Given the description of an element on the screen output the (x, y) to click on. 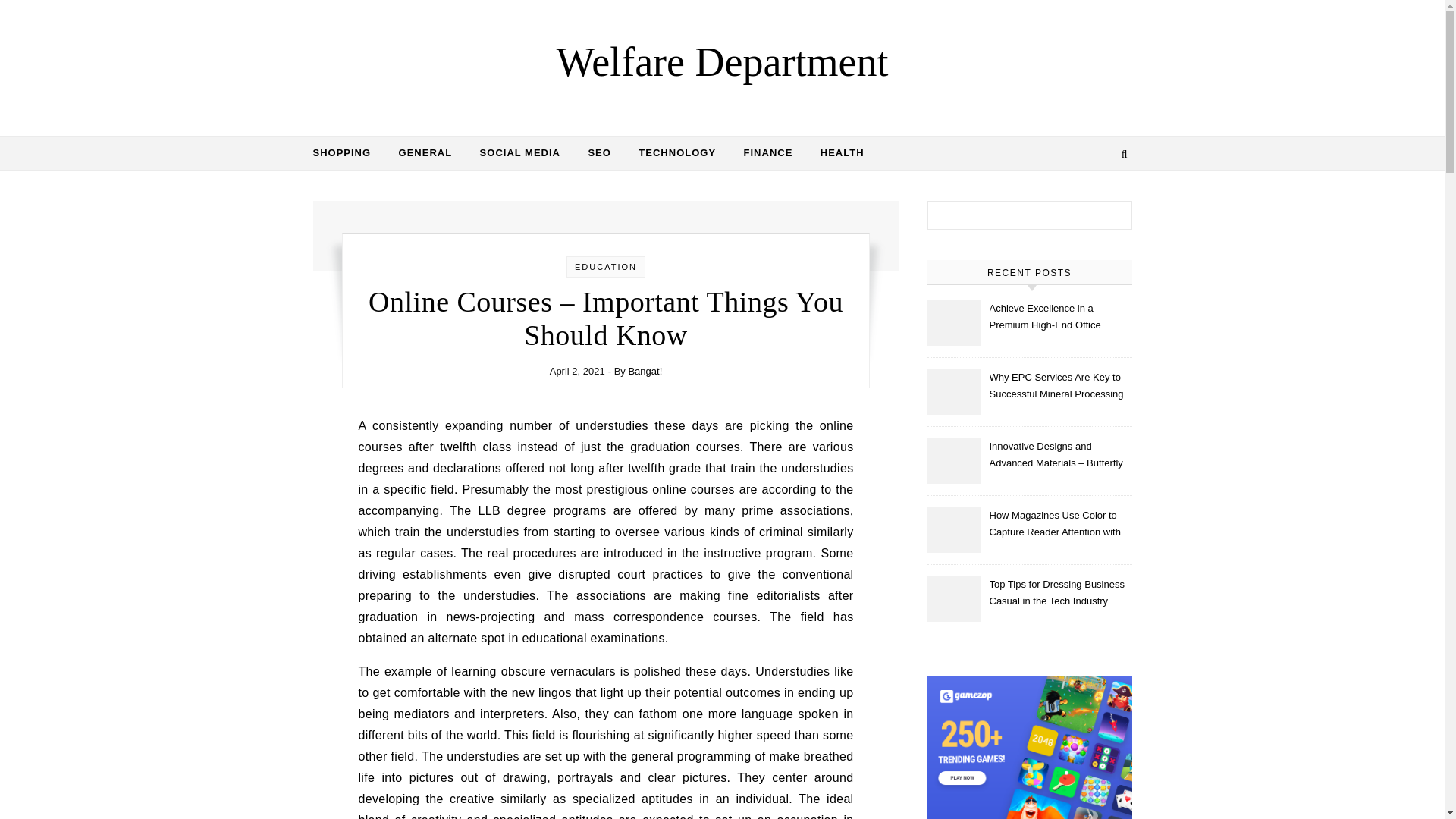
SOCIAL MEDIA (519, 152)
EDUCATION (606, 266)
Search (1104, 217)
SEO (599, 152)
Top Tips for Dressing Business Casual in the Tech Industry (1058, 593)
GENERAL (425, 152)
HEALTH (836, 152)
TECHNOLOGY (677, 152)
Posts by Bangat! (644, 370)
